Given the description of an element on the screen output the (x, y) to click on. 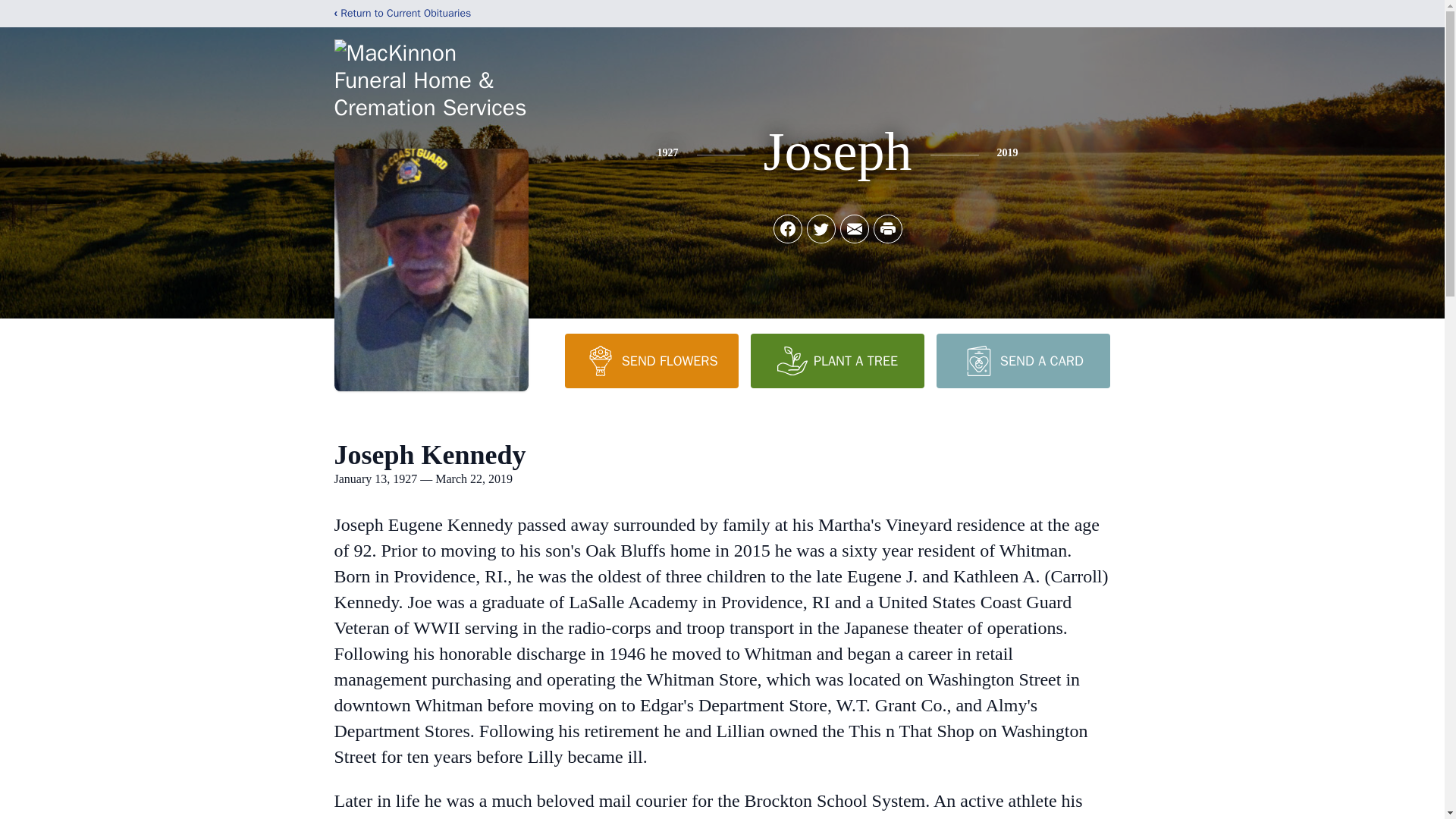
SEND FLOWERS (651, 360)
PLANT A TREE (837, 360)
SEND A CARD (1022, 360)
